Given the description of an element on the screen output the (x, y) to click on. 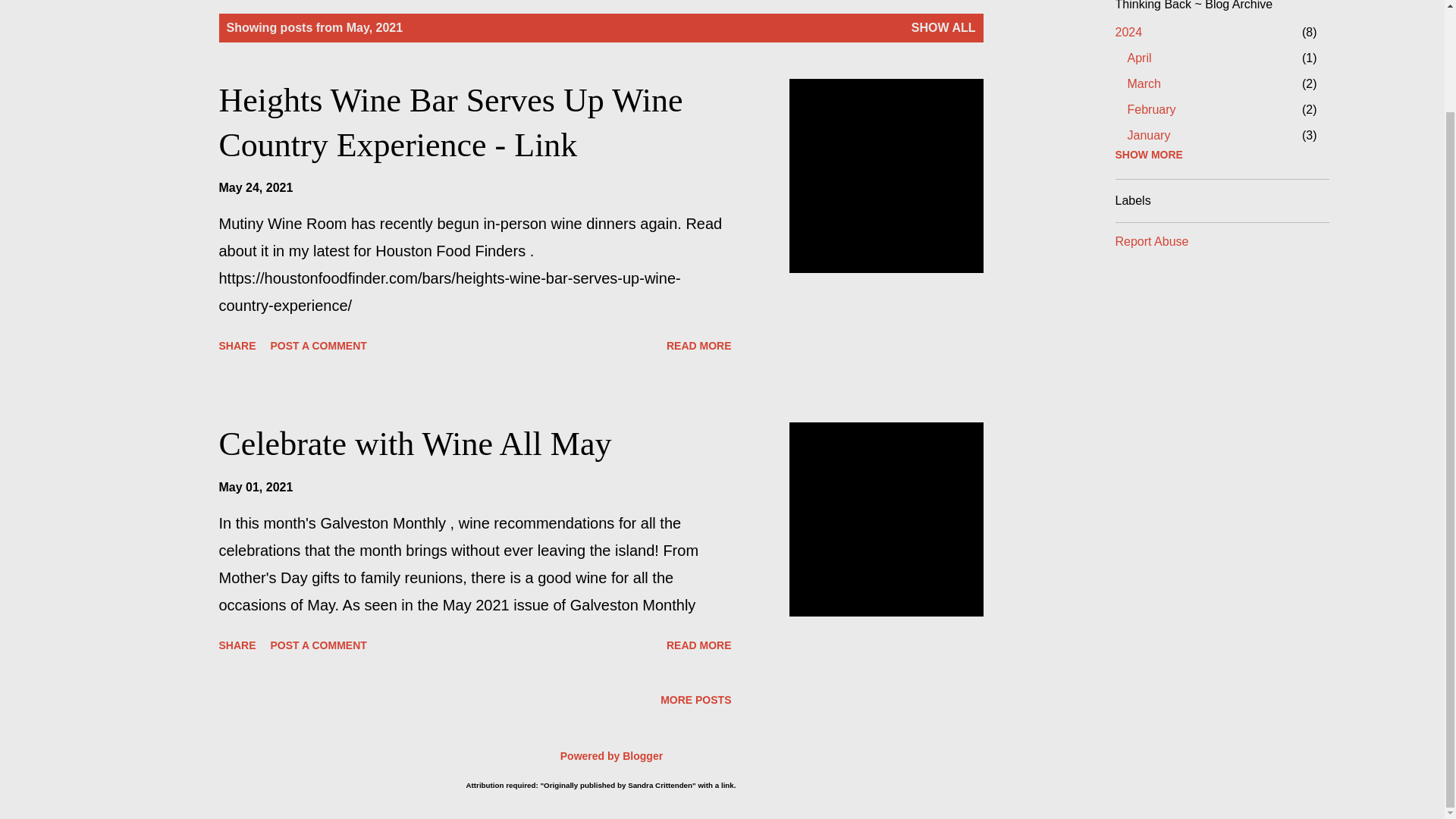
Celebrate with Wine All May (414, 443)
May 01, 2021 (255, 486)
POST A COMMENT (1148, 134)
permanent link (318, 345)
permanent link (255, 486)
SHARE (255, 187)
May 24, 2021 (237, 645)
READ MORE (255, 187)
Heights Wine Bar Serves Up Wine Country Experience - Link (699, 645)
POST A COMMENT (1143, 83)
MORE POSTS (699, 345)
READ MORE (318, 645)
